Given the description of an element on the screen output the (x, y) to click on. 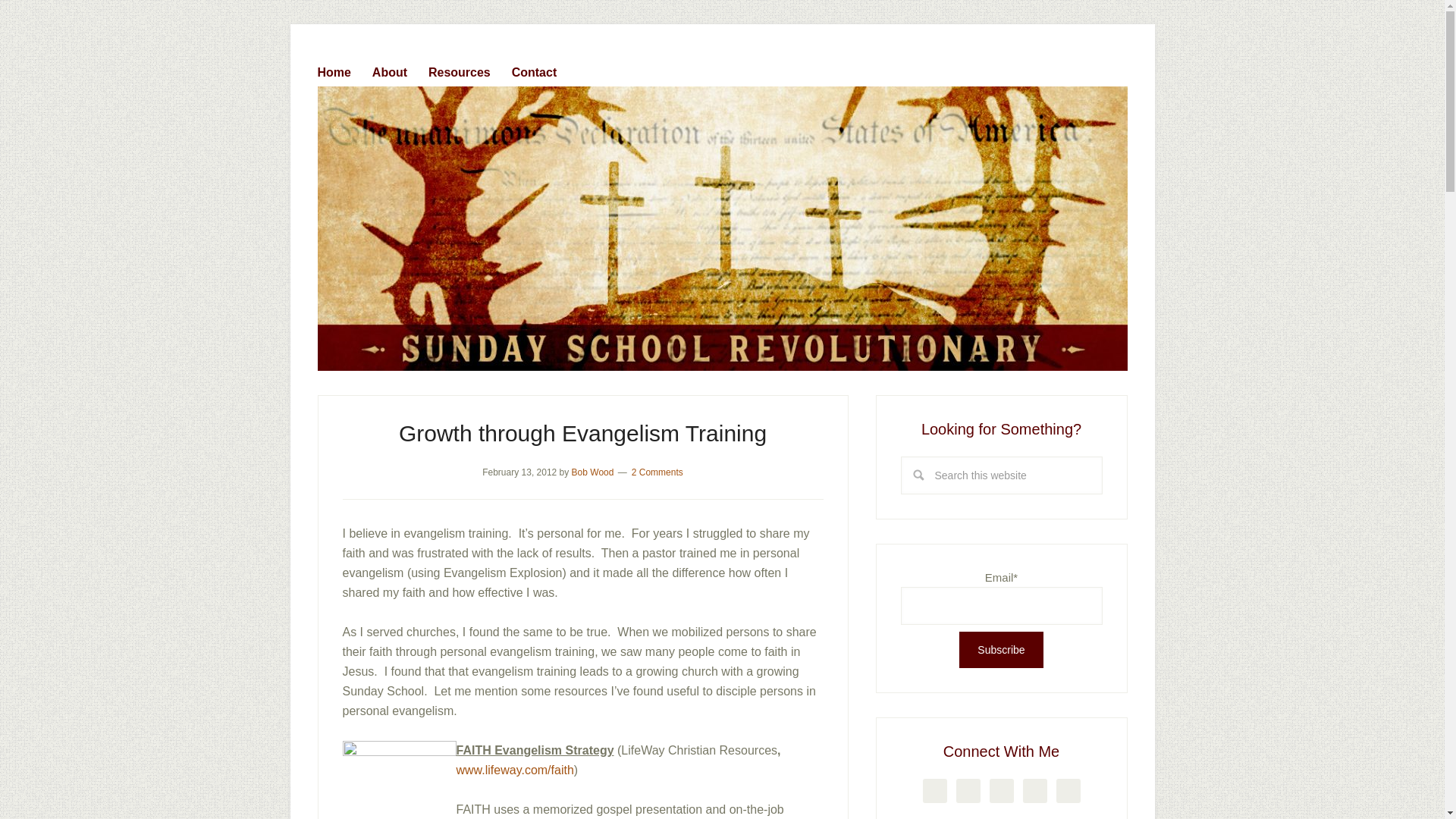
faith (399, 779)
Home (342, 68)
Subscribe (1000, 649)
Bob Wood (593, 471)
About (398, 68)
2 Comments (656, 471)
Contact (543, 68)
Resources (468, 68)
Subscribe (1000, 649)
